Given the description of an element on the screen output the (x, y) to click on. 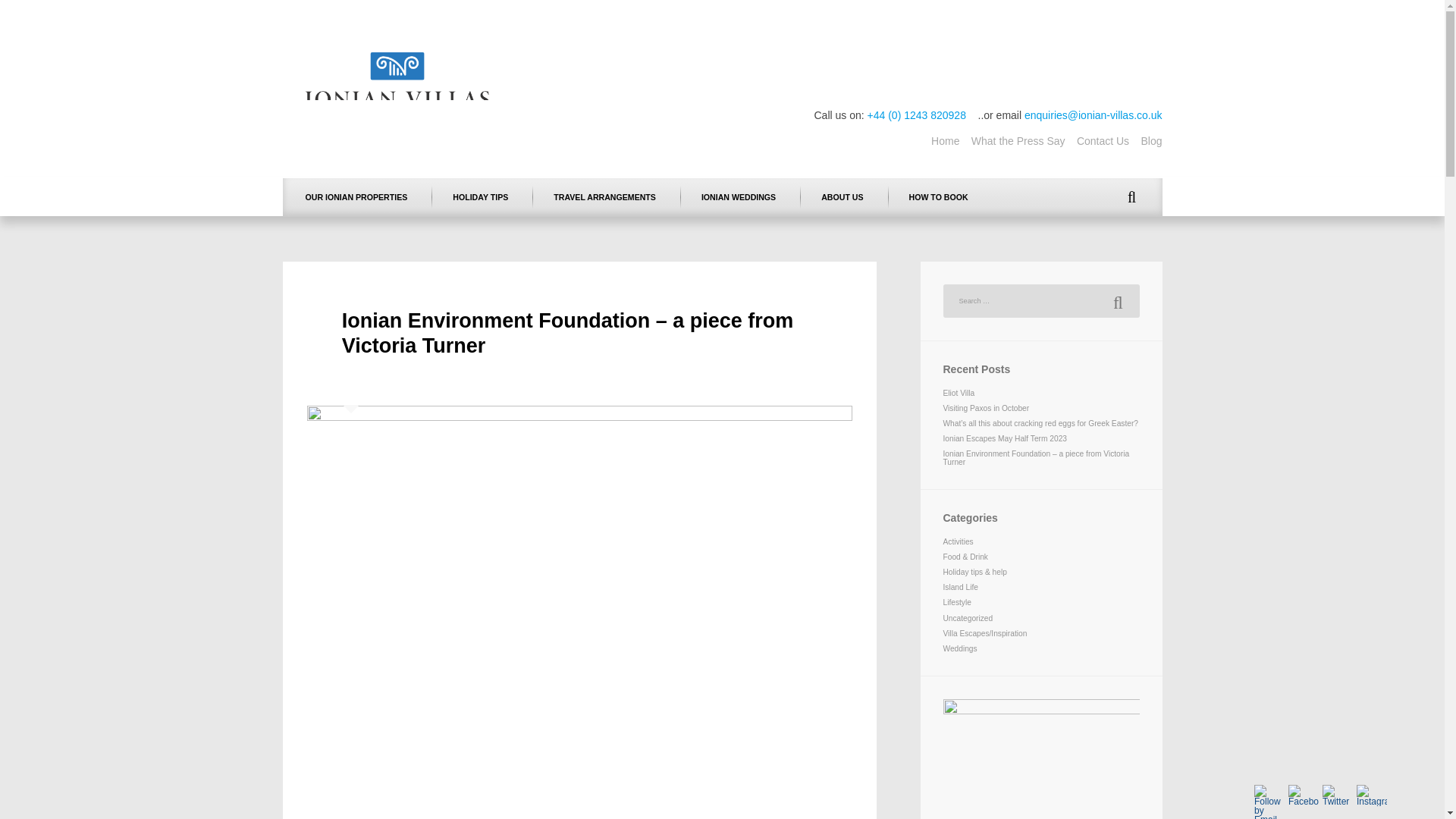
Search (1117, 300)
Twitter (1337, 794)
Blog (1150, 141)
ABOUT US (841, 197)
Home (945, 141)
IONIAN WEDDINGS (737, 197)
What the Press Say (1018, 141)
Search (1117, 300)
Instagram (1371, 794)
OUR IONIAN PROPERTIES (355, 197)
